Given the description of an element on the screen output the (x, y) to click on. 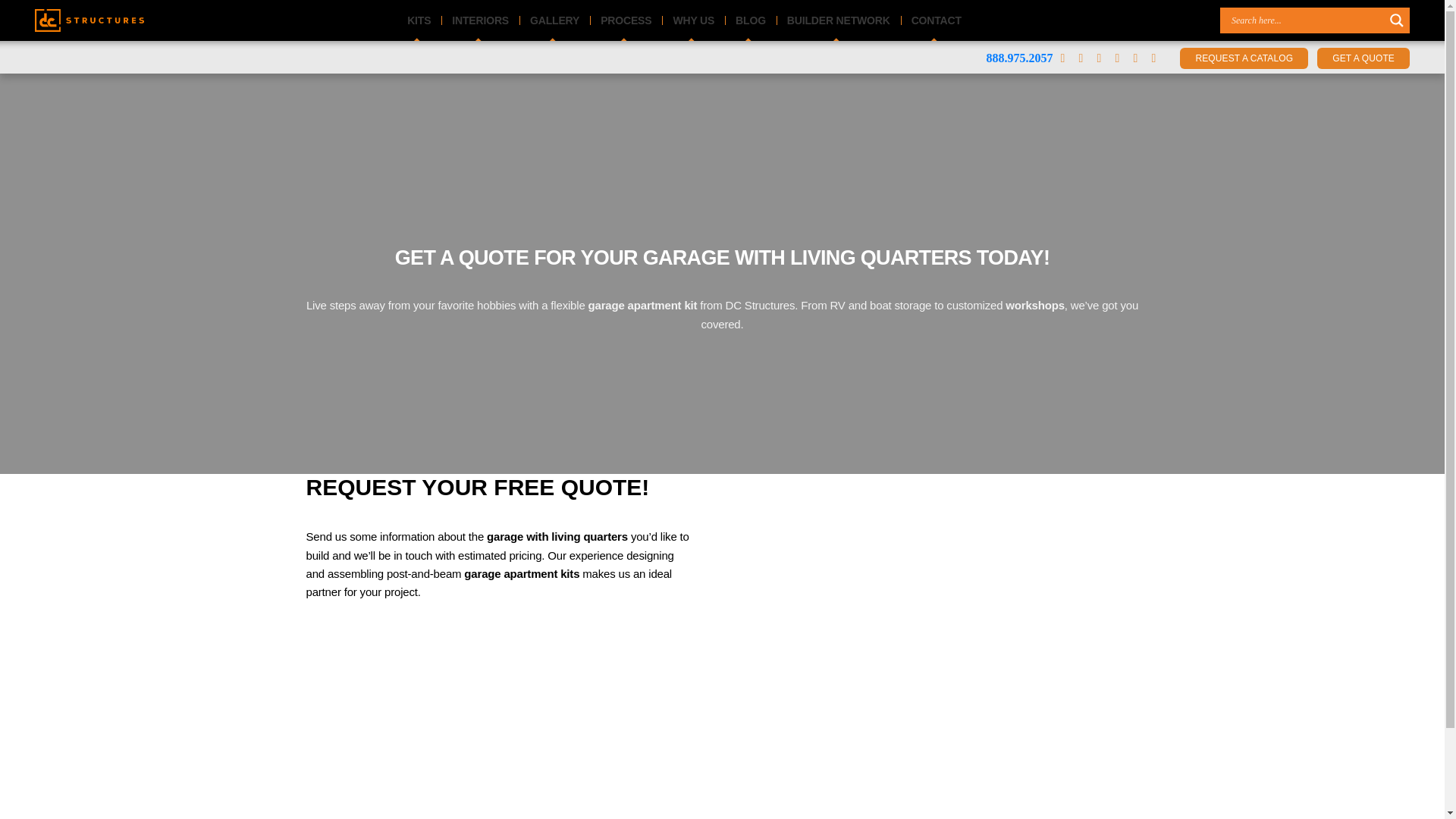
KITS (418, 20)
DC Structures (89, 20)
